Given the description of an element on the screen output the (x, y) to click on. 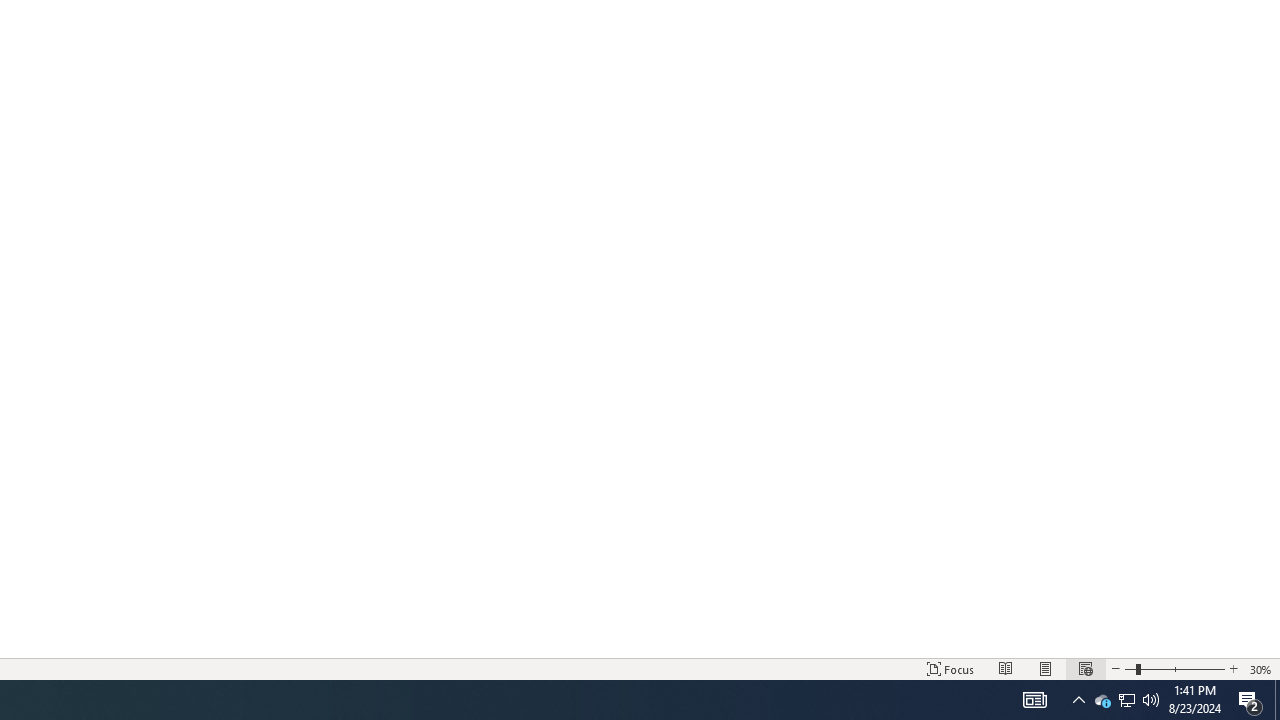
Zoom 30% (1261, 668)
